Given the description of an element on the screen output the (x, y) to click on. 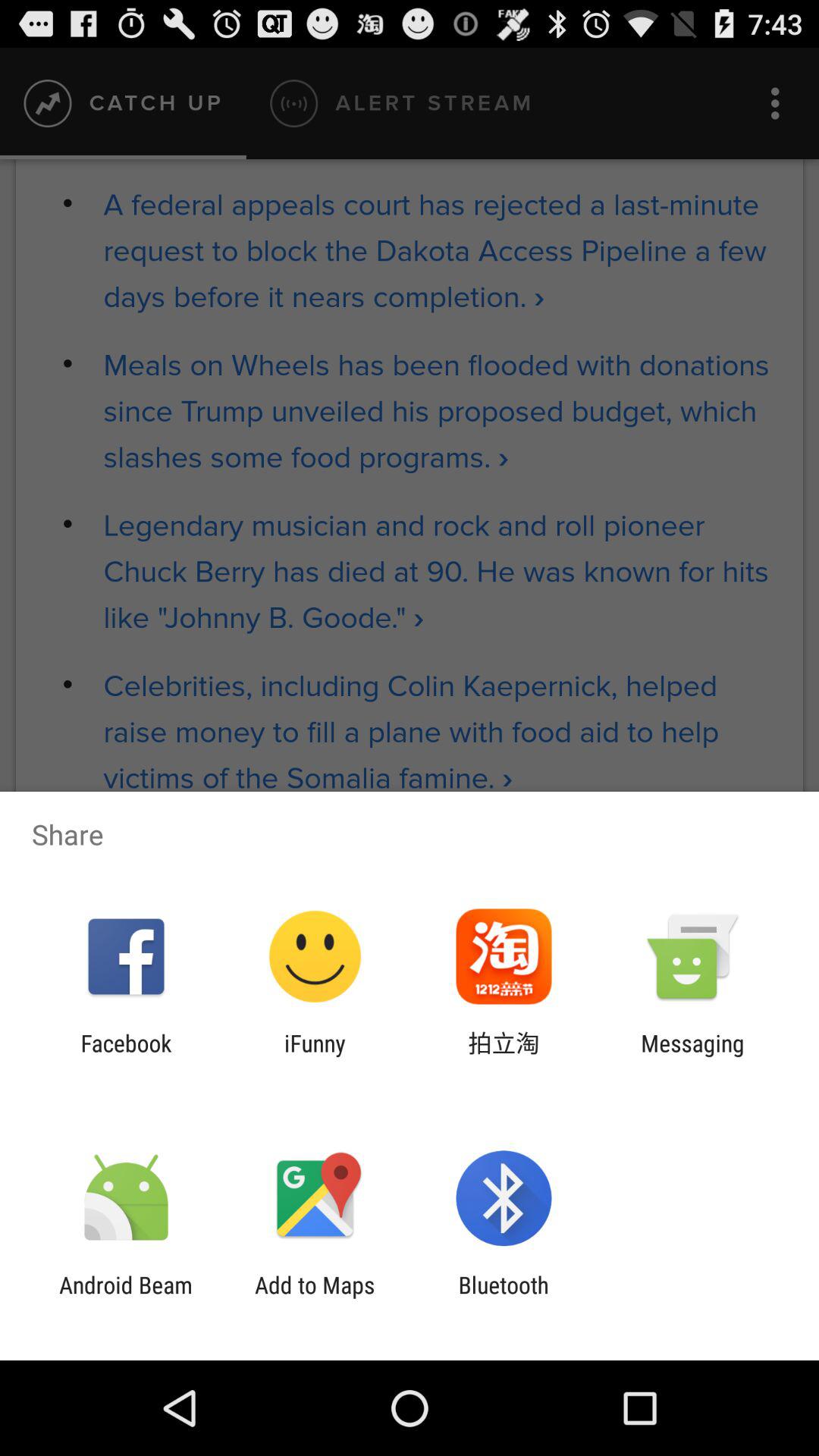
launch item at the bottom right corner (692, 1056)
